Given the description of an element on the screen output the (x, y) to click on. 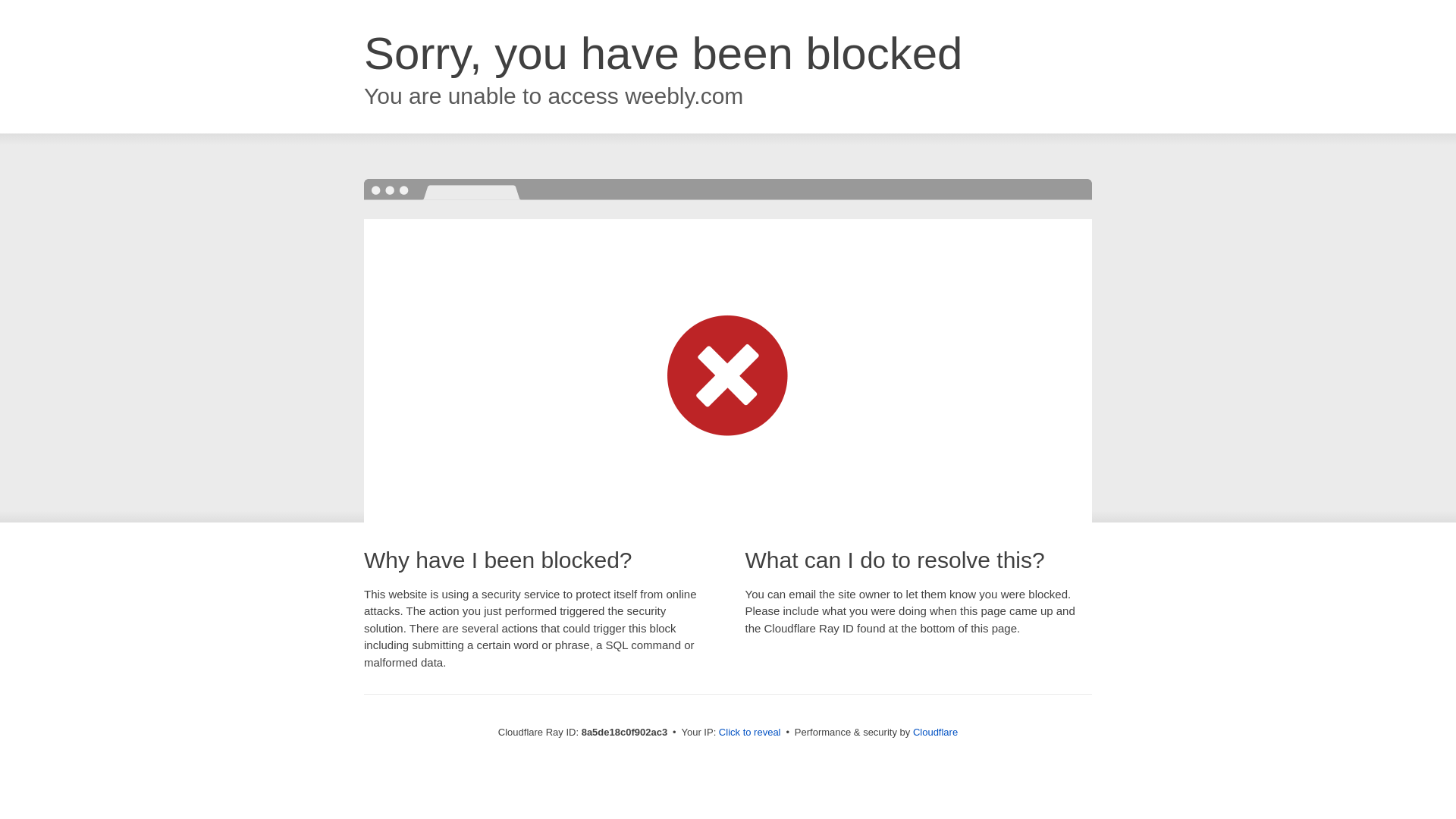
Cloudflare (935, 731)
Click to reveal (749, 732)
